Given the description of an element on the screen output the (x, y) to click on. 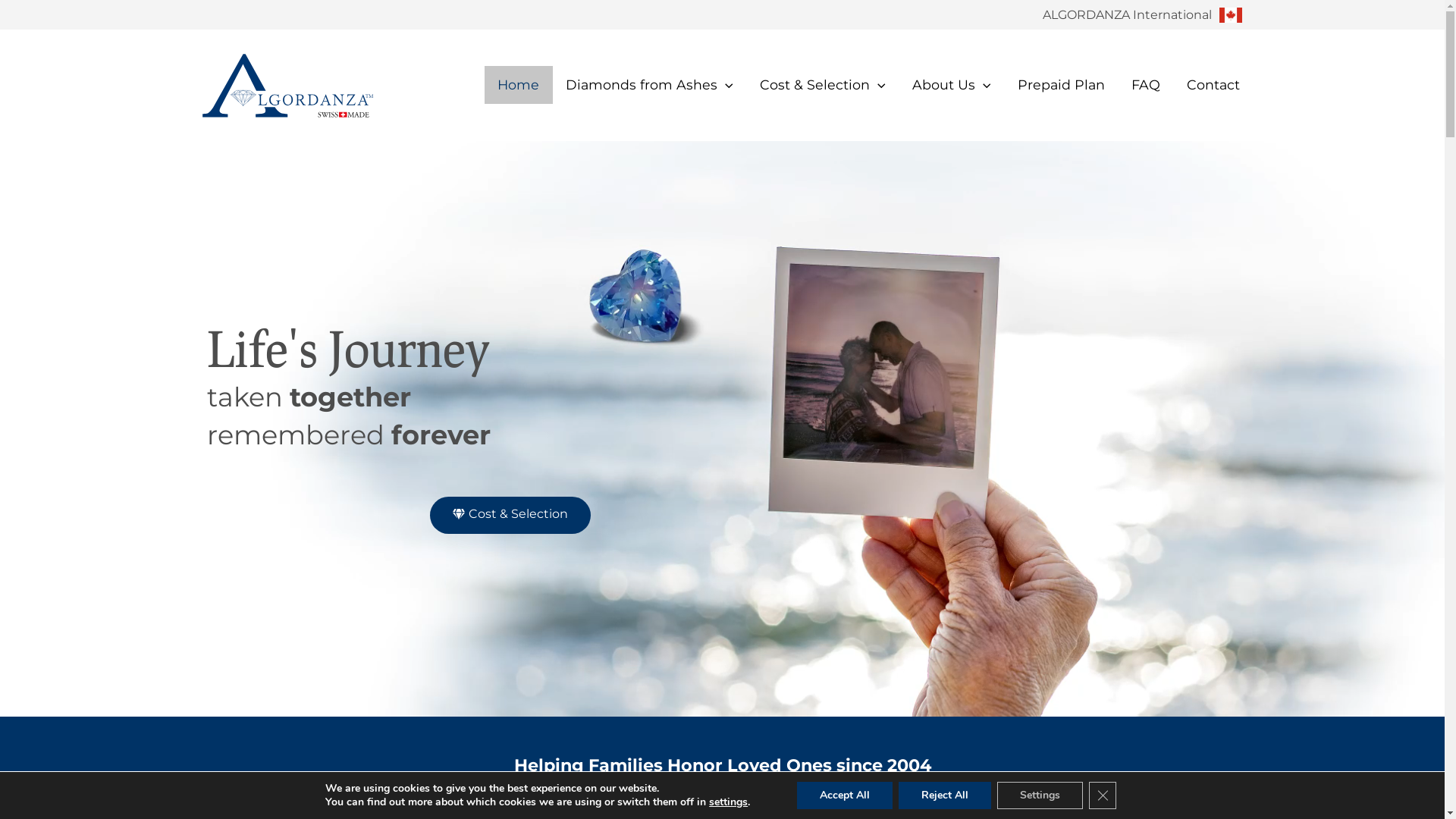
Home Element type: text (518, 84)
Close GDPR Cookie Banner Element type: text (1102, 795)
Accept All Element type: text (844, 795)
FAQ Element type: text (1145, 84)
Reject All Element type: text (944, 795)
Diamonds from Ashes Element type: text (649, 84)
Settings Element type: text (1039, 795)
Contact Element type: text (1212, 84)
Prepaid Plan Element type: text (1060, 84)
settings Element type: text (728, 802)
Cost & Selection Element type: text (509, 514)
Cost & Selection Element type: text (822, 84)
About Us Element type: text (951, 84)
